Given the description of an element on the screen output the (x, y) to click on. 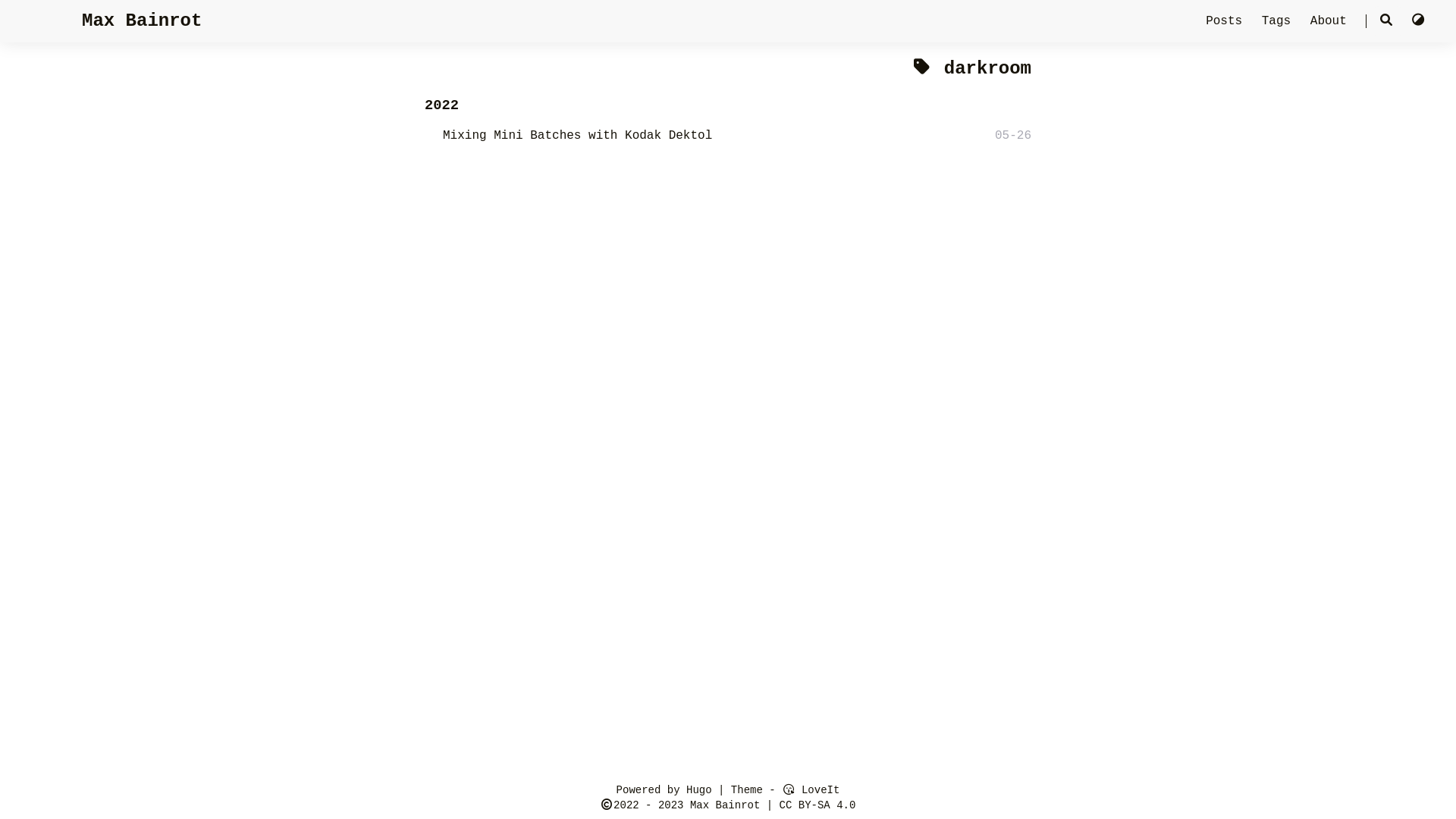
Hugo Element type: text (699, 790)
LoveIt Element type: text (810, 790)
Switch Theme Element type: hover (1417, 21)
Search Element type: hover (1385, 21)
Posts Element type: text (1227, 21)
About Element type: text (1332, 21)
Max Bainrot Element type: text (724, 805)
CC BY-SA 4.0 Element type: text (817, 805)
Mixing Mini Batches with Kodak Dektol Element type: text (577, 135)
Max Bainrot Element type: text (141, 20)
Tags Element type: text (1279, 21)
